Given the description of an element on the screen output the (x, y) to click on. 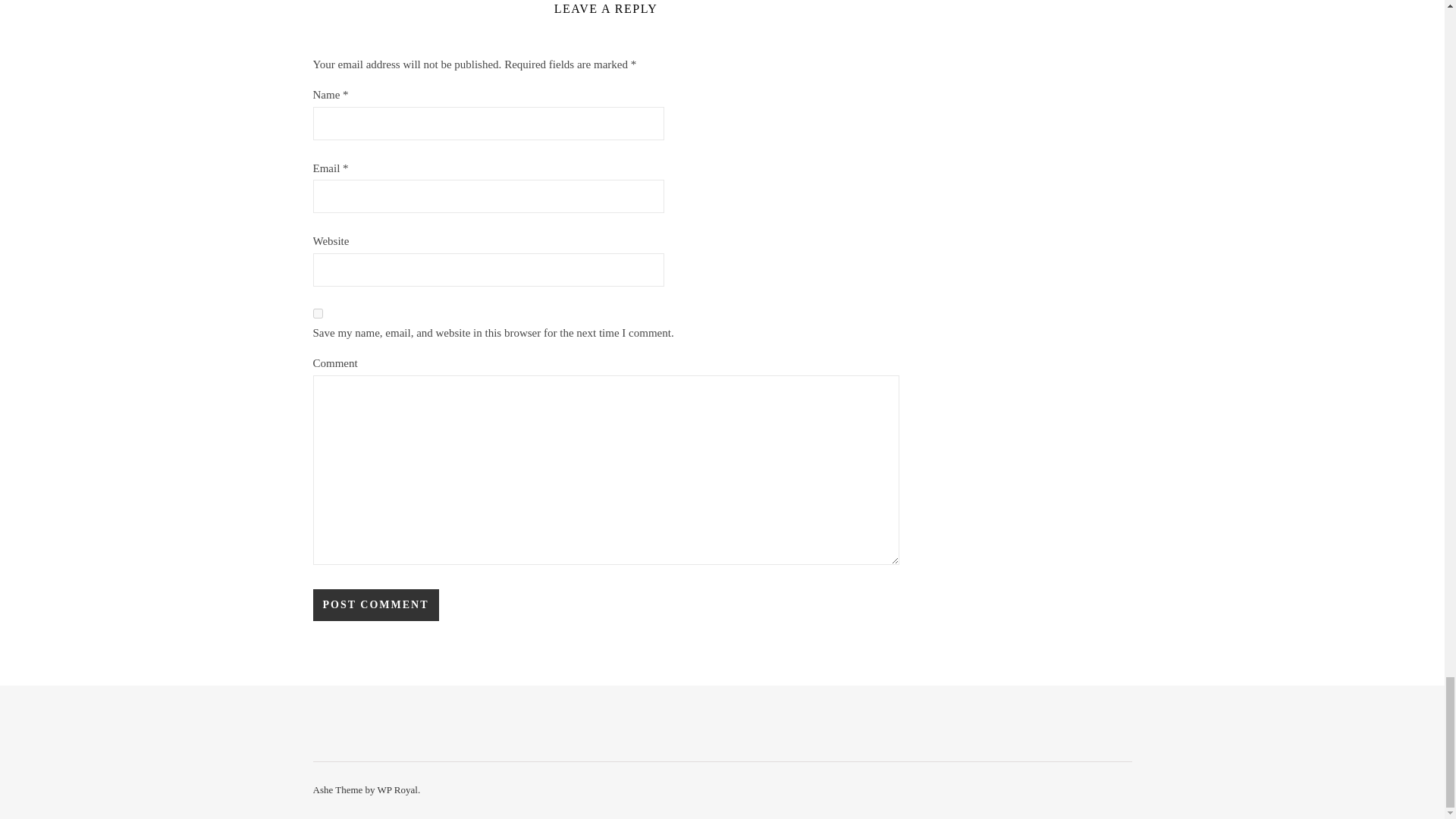
Post Comment (375, 604)
yes (317, 313)
